Given the description of an element on the screen output the (x, y) to click on. 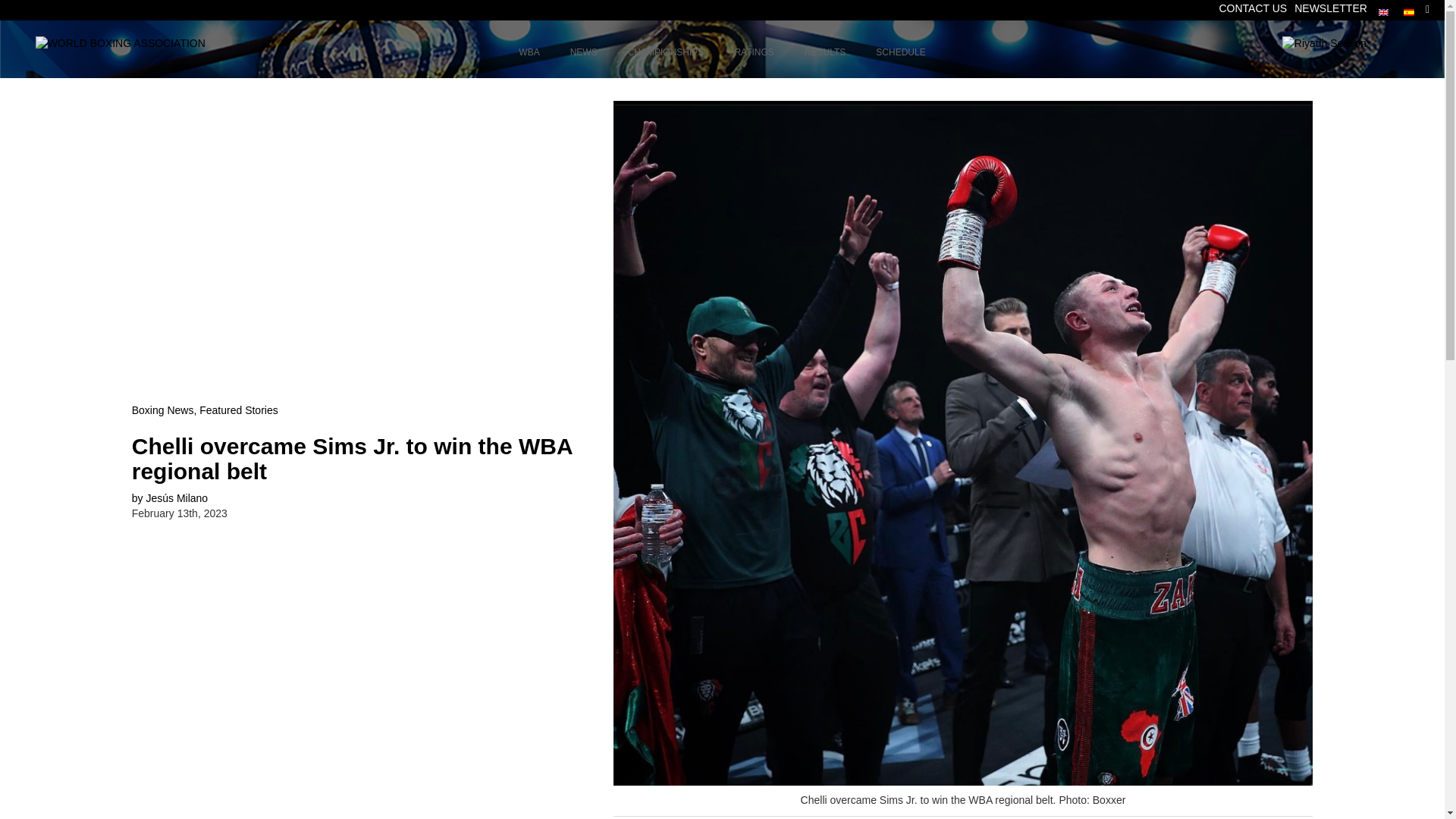
CHAMPIONSHIPS (665, 53)
RATINGS (754, 53)
NEWSLETTER (1330, 7)
WBA (721, 53)
NEWS (528, 53)
CONTACT US (583, 53)
